Given the description of an element on the screen output the (x, y) to click on. 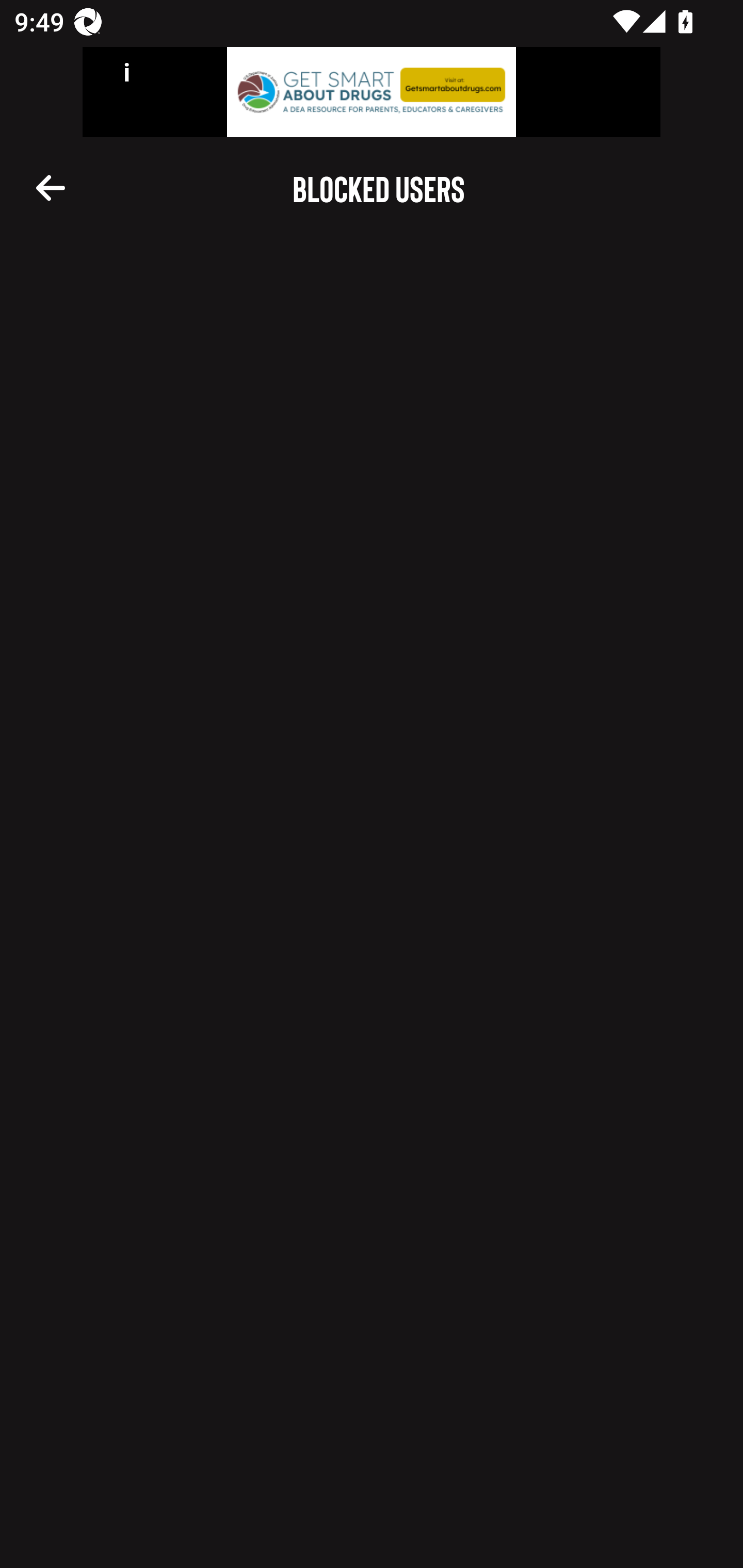
Description (50, 187)
